Given the description of an element on the screen output the (x, y) to click on. 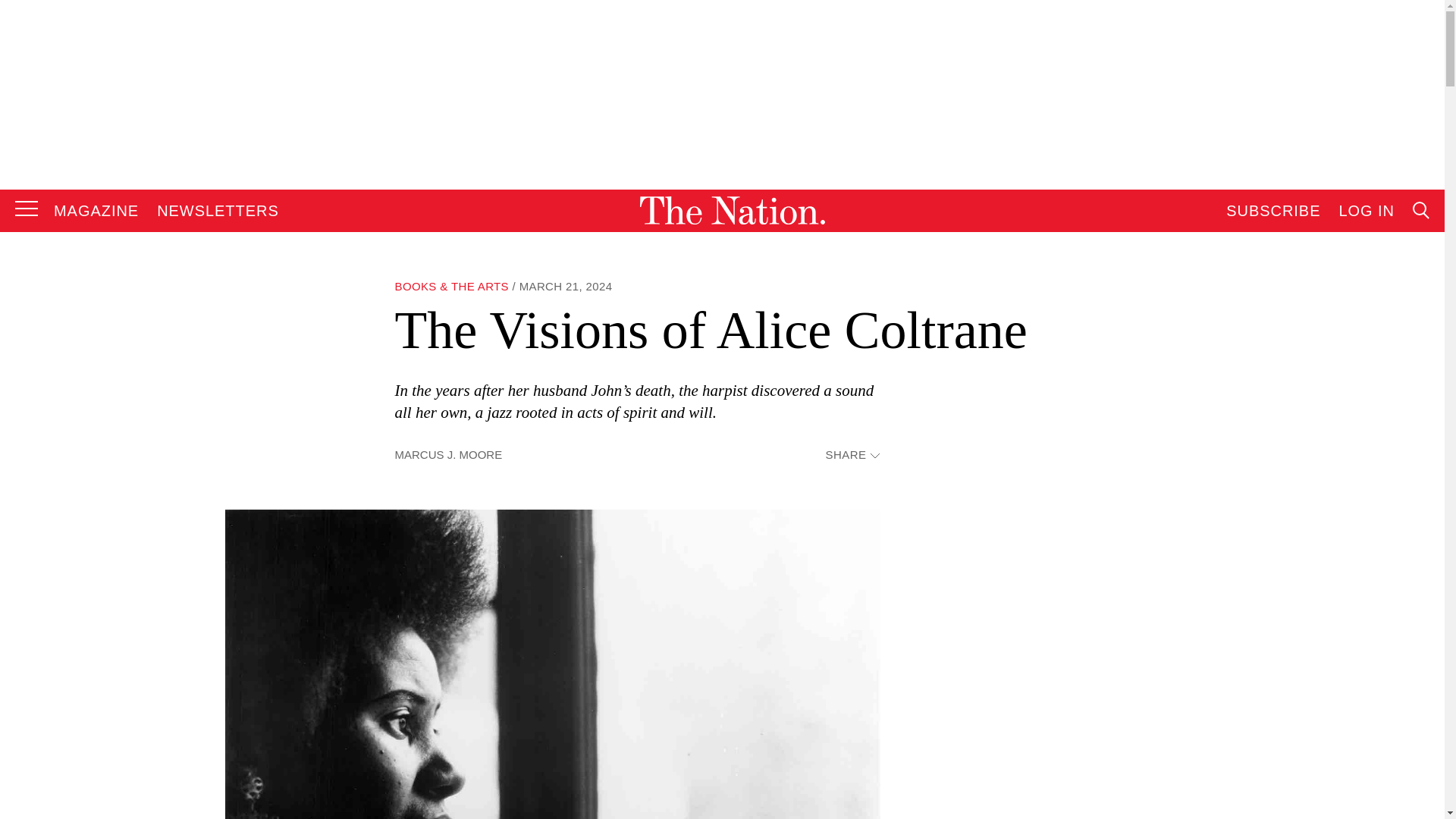
MAGAZINE (95, 210)
Search (1278, 364)
SUBSCRIBE (1272, 210)
LOG IN (1366, 210)
MARCUS J. MOORE (448, 454)
NEWSLETTERS (218, 210)
SHARE (852, 454)
